Given the description of an element on the screen output the (x, y) to click on. 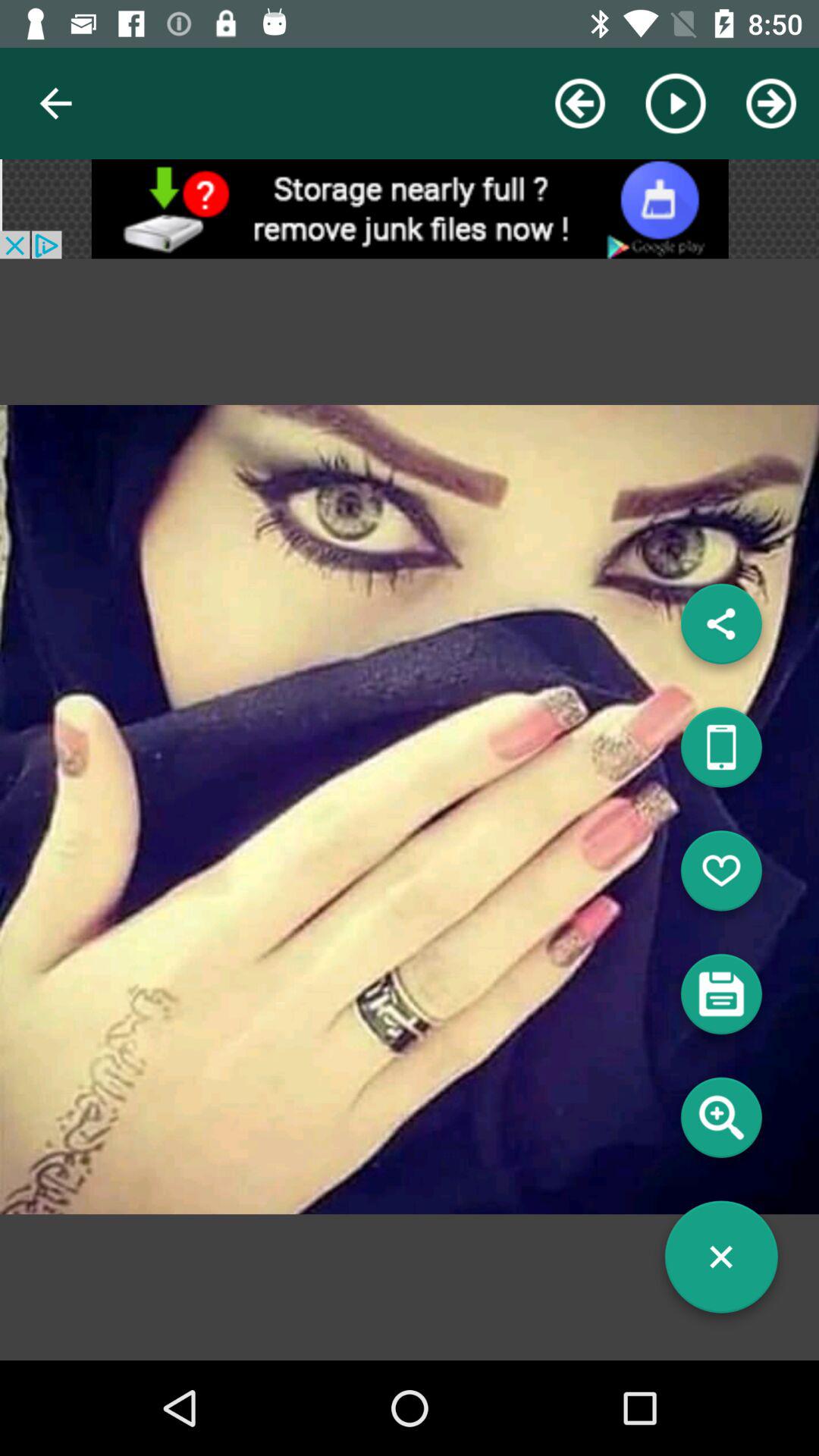
view advertisement (409, 208)
